Given the description of an element on the screen output the (x, y) to click on. 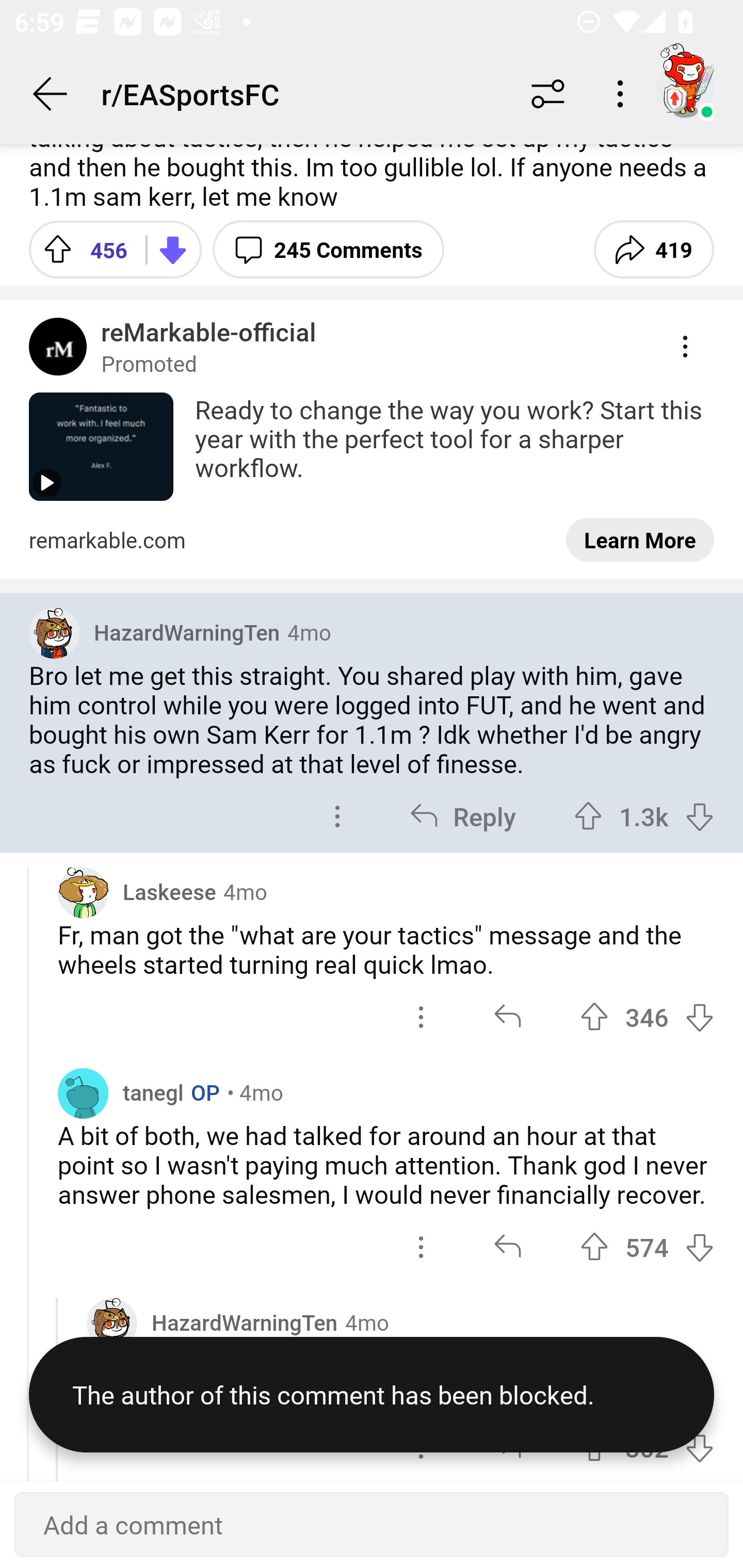
Back (50, 93)
TestAppium002 account (685, 90)
Sort comments (547, 93)
More options (623, 93)
r/EASportsFC (302, 92)
Upvote 456 (79, 249)
245 Comments (328, 249)
Share 419 (653, 249)
Custom avatar (53, 633)
options (337, 816)
Reply (462, 816)
Upvote 1.3k 1287 votes Downvote (643, 816)
Custom avatar (82, 892)
options (420, 1017)
Upvote 346 346 votes Downvote (647, 1017)
Avatar (82, 1092)
OP (201, 1092)
options (420, 1246)
Upvote 574 574 votes Downvote (647, 1246)
Custom avatar (111, 1323)
Add a comment (371, 1524)
